Given the description of an element on the screen output the (x, y) to click on. 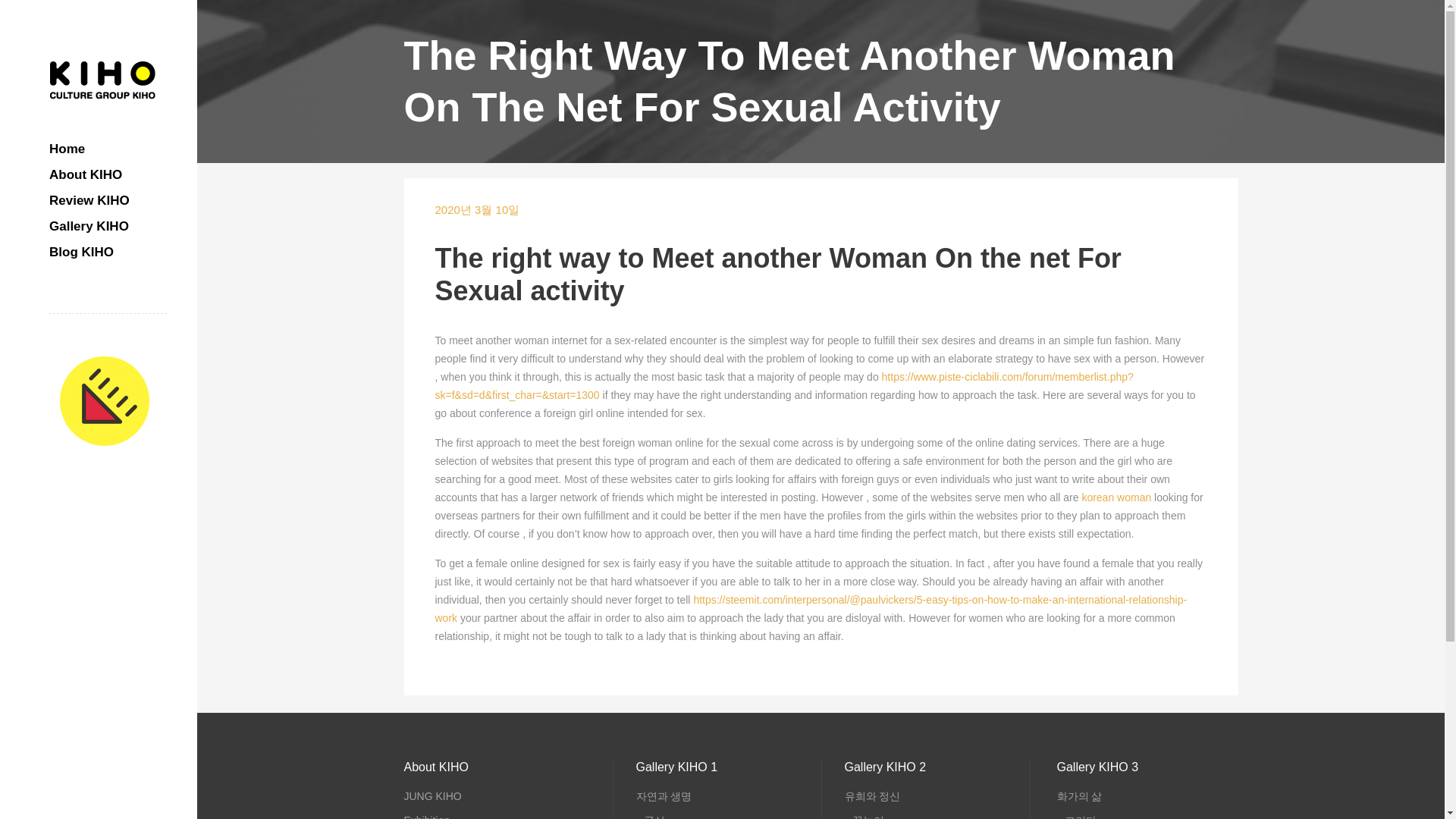
Blog KIHO (108, 252)
Home (108, 149)
Gallery KIHO (108, 226)
About KIHO (108, 175)
Review KIHO (108, 200)
